Given the description of an element on the screen output the (x, y) to click on. 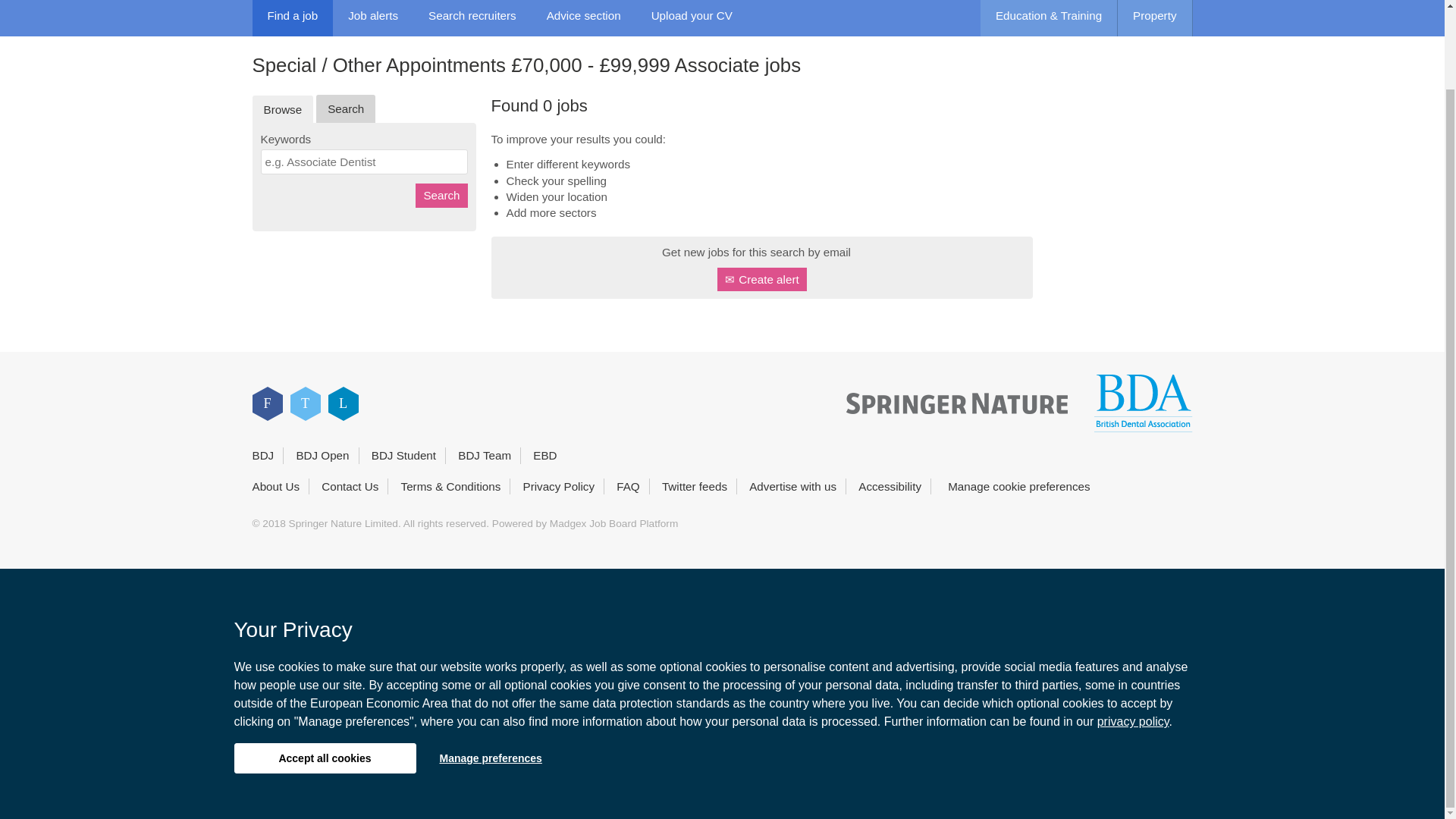
BDJ Open (322, 455)
privacy policy (1133, 631)
BDJ Team (484, 455)
Accept all cookies (323, 668)
Property (1155, 18)
Contact Us (349, 486)
About Us (274, 486)
Upload your CV (692, 18)
BDJ Student (403, 455)
Job alerts (373, 18)
EBD (544, 455)
Browse (282, 109)
Search (440, 195)
Advice section (583, 18)
Search (345, 108)
